Given the description of an element on the screen output the (x, y) to click on. 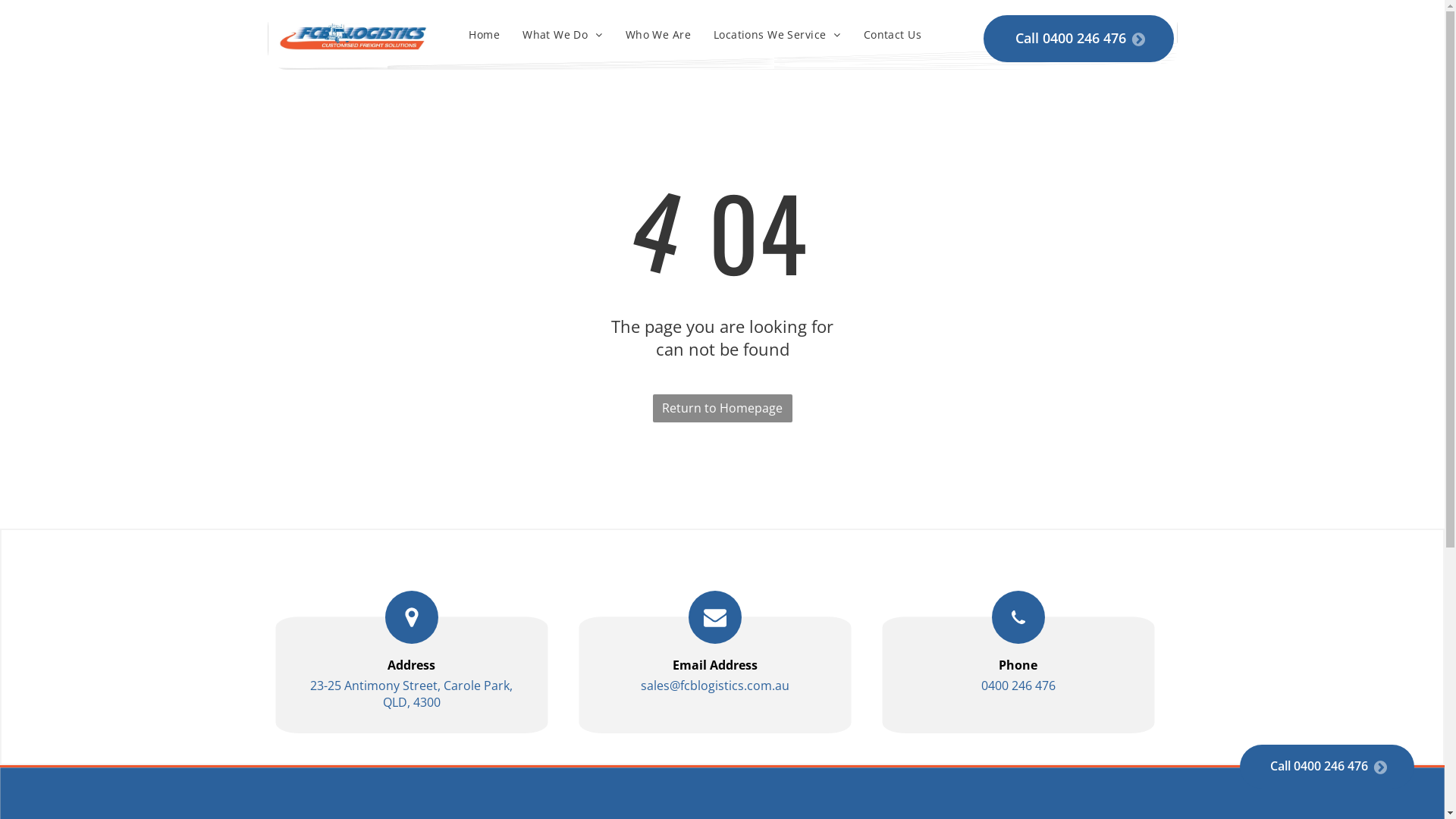
0400 246 476 Element type: text (1018, 685)
Call 0400 246 476 Element type: text (1078, 38)
Antimony Street, Carole Park, QLD, 4300 Element type: text (428, 693)
Home Element type: text (484, 34)
Address Icon Element type: hover (411, 616)
Return to Homepage Element type: text (721, 408)
Phone Icon Element type: hover (1017, 616)
Who We Are Element type: text (658, 34)
23-25 Element type: text (325, 685)
What We Do Element type: text (562, 34)
Call 0400 246 476 Element type: text (1326, 766)
Contact Us Element type: text (892, 34)
sales Element type: text (654, 685)
@fcblogistics.com.au Element type: text (728, 685)
Locations We Service Element type: text (777, 34)
Email Icon Element type: hover (714, 616)
